Given the description of an element on the screen output the (x, y) to click on. 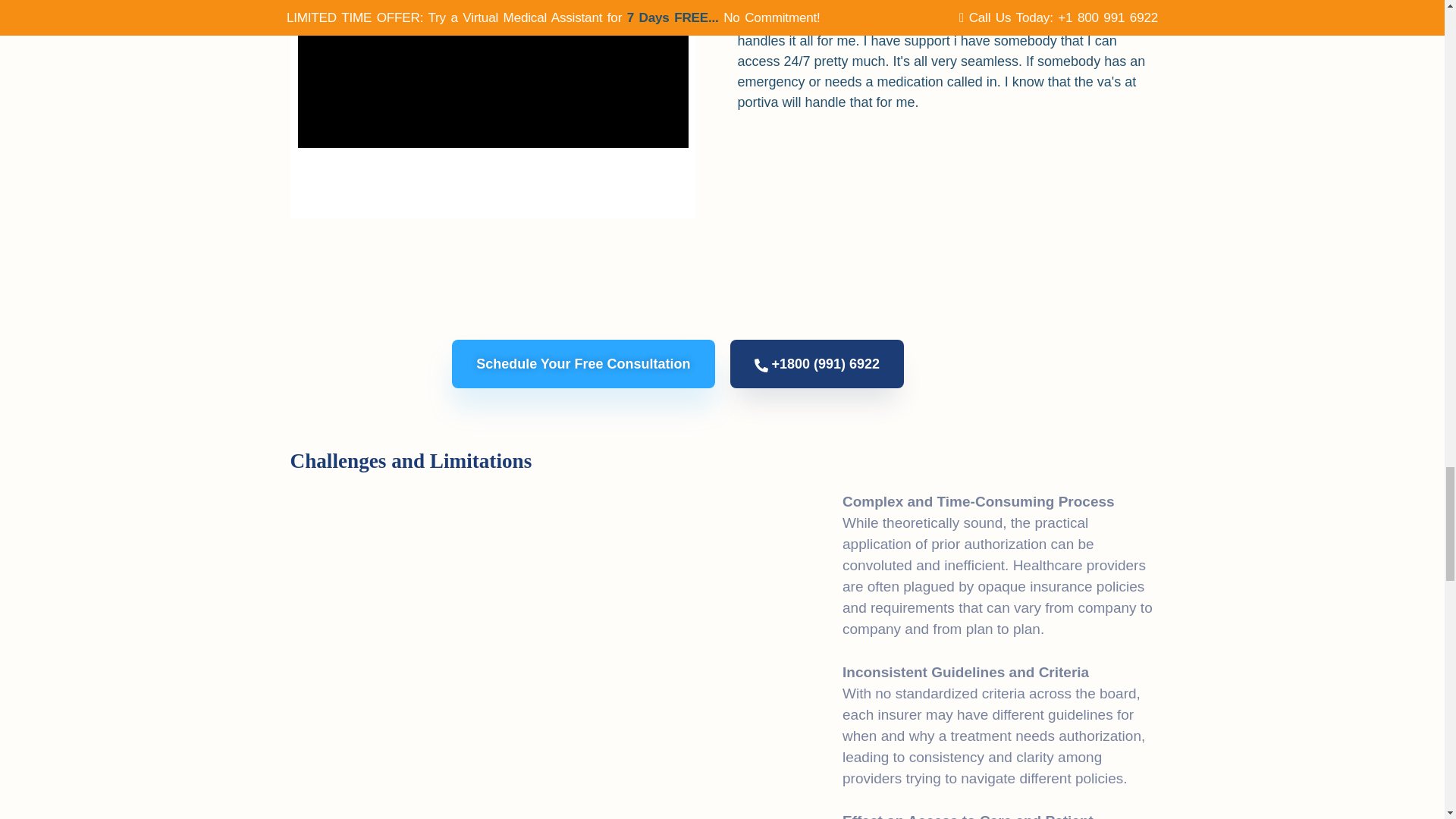
Schedule Your Free Consultation (582, 363)
